Given the description of an element on the screen output the (x, y) to click on. 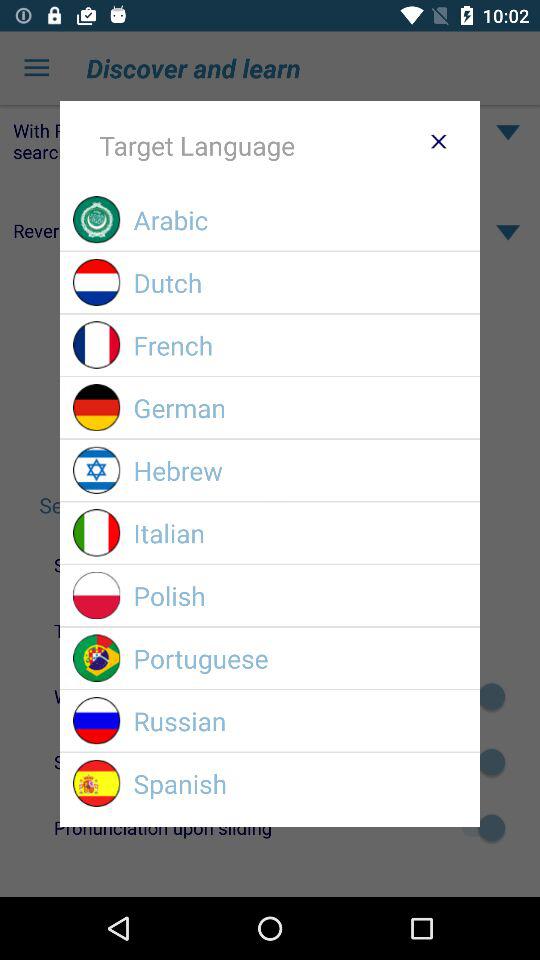
tap the polish item (300, 595)
